Given the description of an element on the screen output the (x, y) to click on. 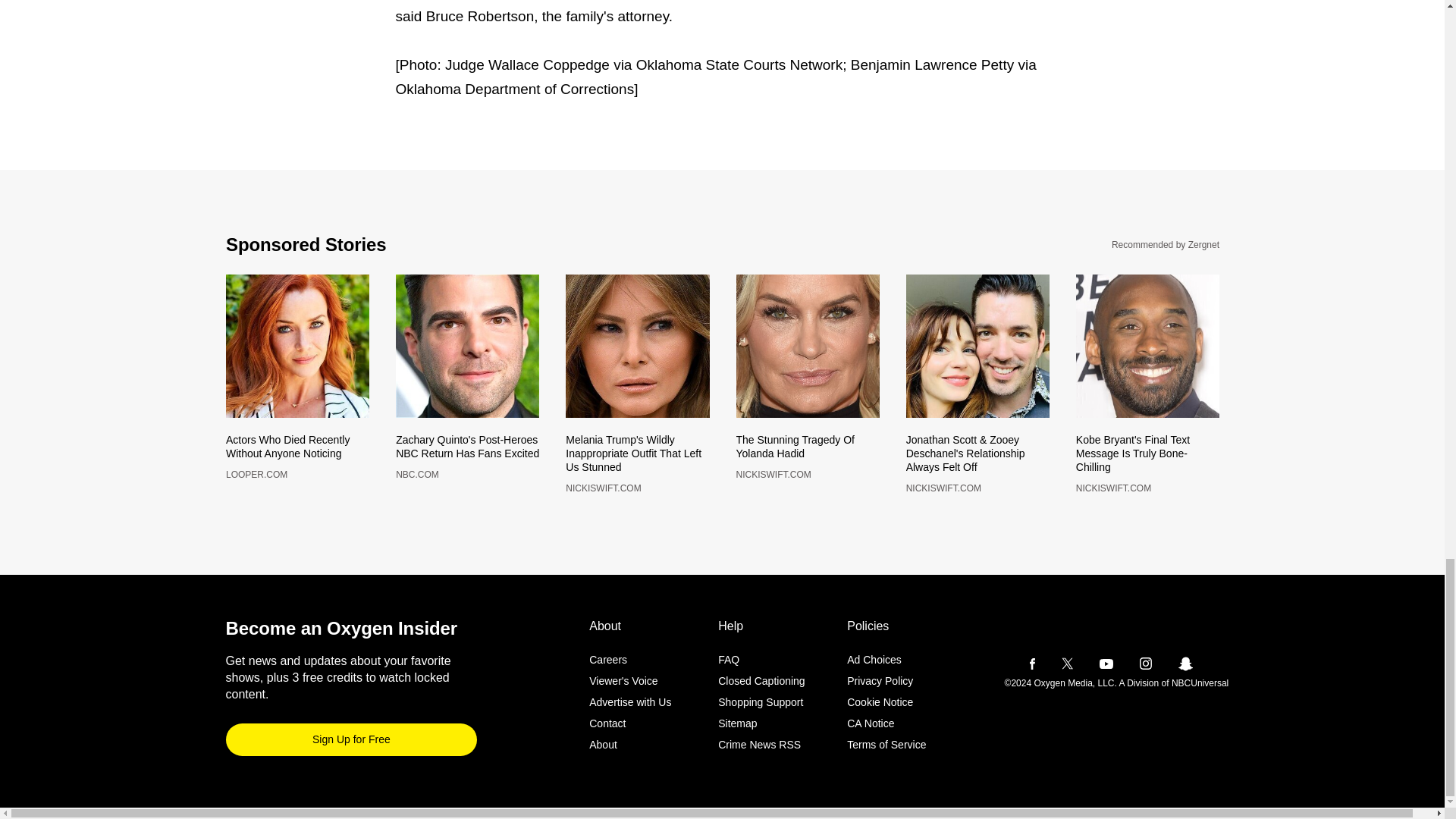
Advertise with Us (807, 457)
